Given the description of an element on the screen output the (x, y) to click on. 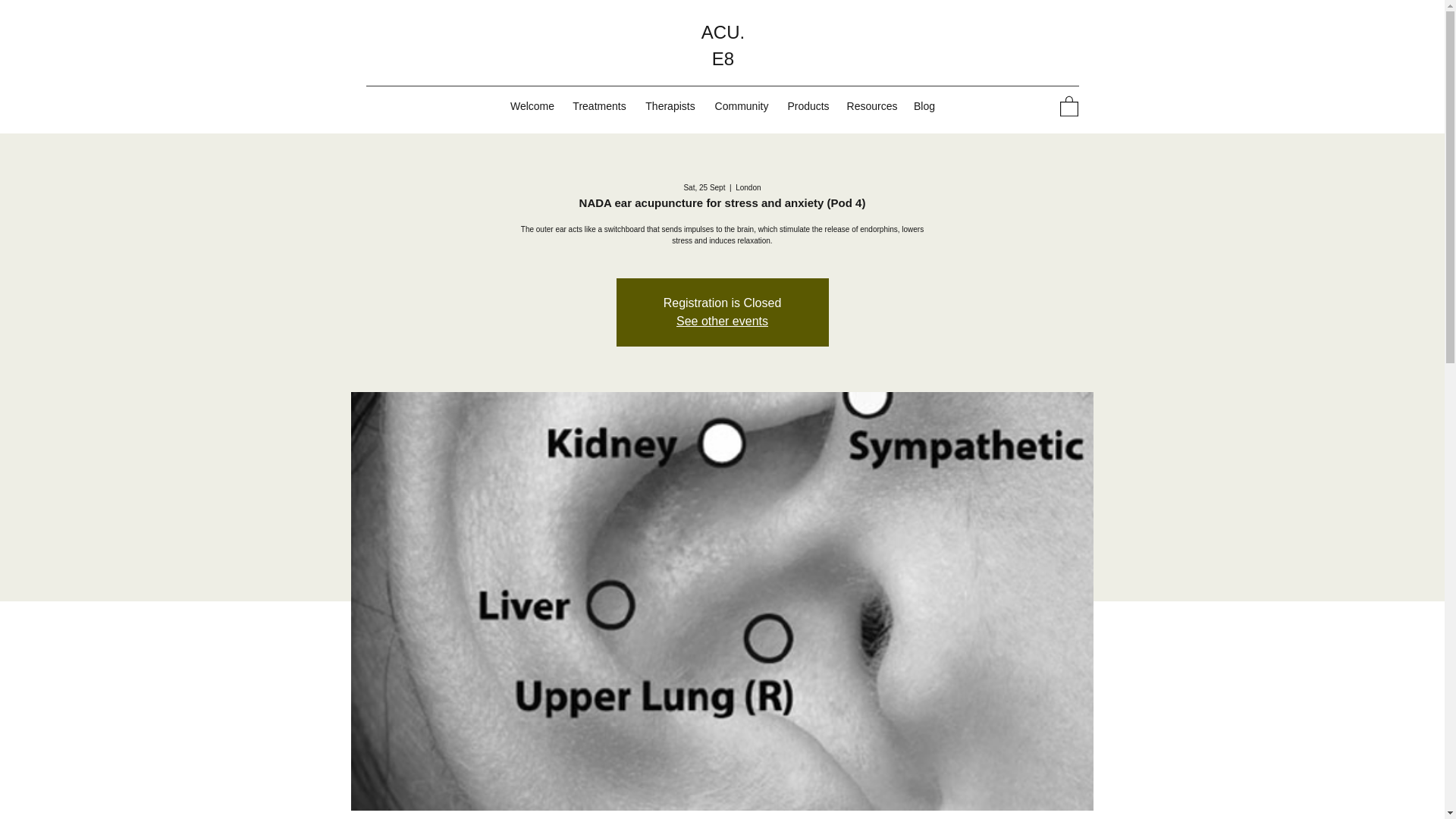
Welcome (532, 106)
ACU.E8 (722, 45)
Therapists (669, 106)
Blog (923, 106)
Treatments (598, 106)
See other events (722, 320)
Products (807, 106)
Resources (871, 106)
Community (741, 106)
